Given the description of an element on the screen output the (x, y) to click on. 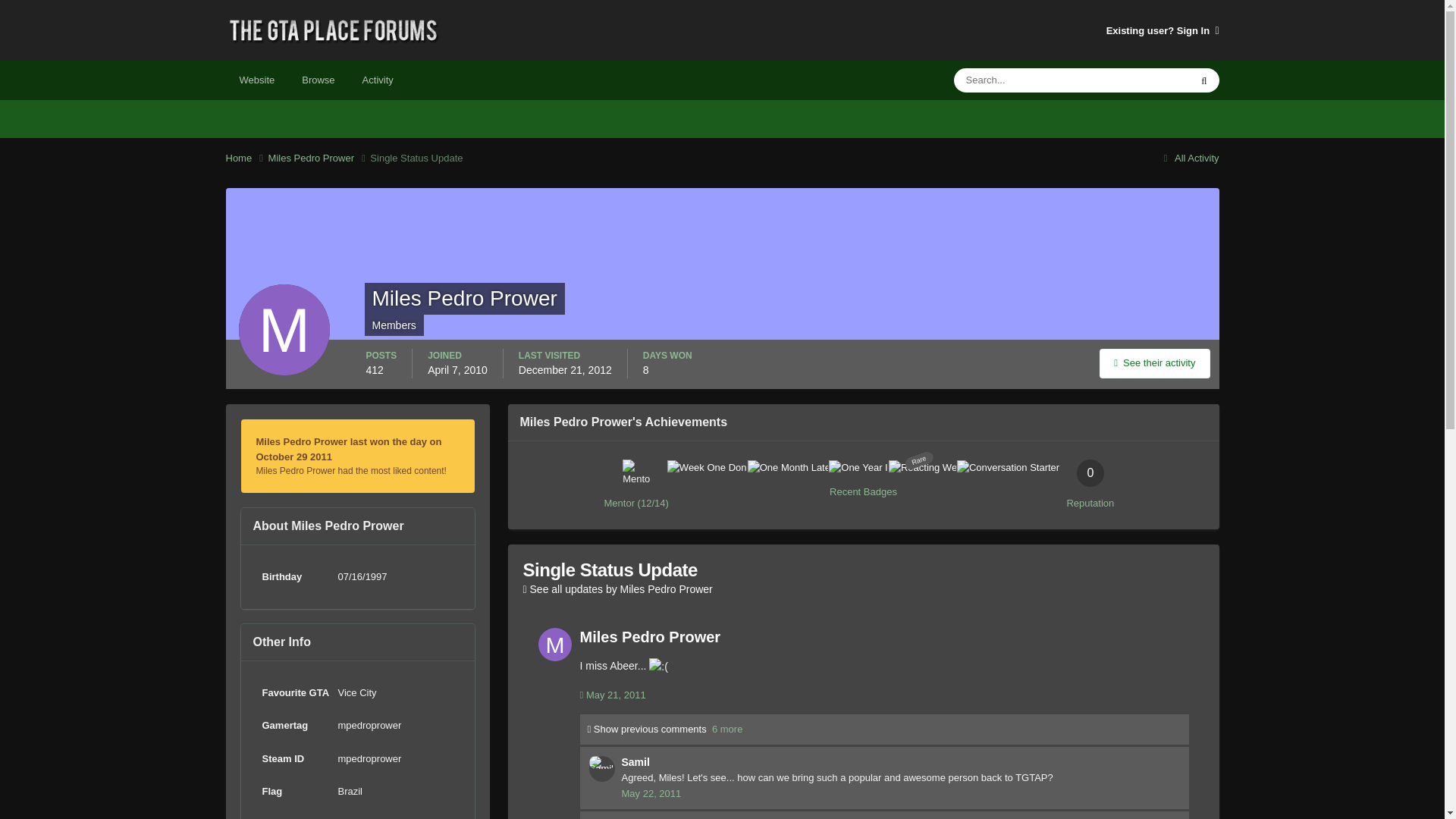
Go to Miles Pedro Prower's profile (555, 644)
All Activity (1188, 157)
Home (246, 158)
Existing user? Sign In   (1163, 30)
Miles Pedro Prower (319, 158)
Browse (317, 79)
Activity (378, 79)
Week One Done (862, 485)
Neutral (709, 467)
One Month Later (1090, 472)
Home (791, 467)
Conversation Starter (246, 158)
 See their activity (1007, 467)
Go to Miles Pedro Prower's profile (1154, 363)
